Given the description of an element on the screen output the (x, y) to click on. 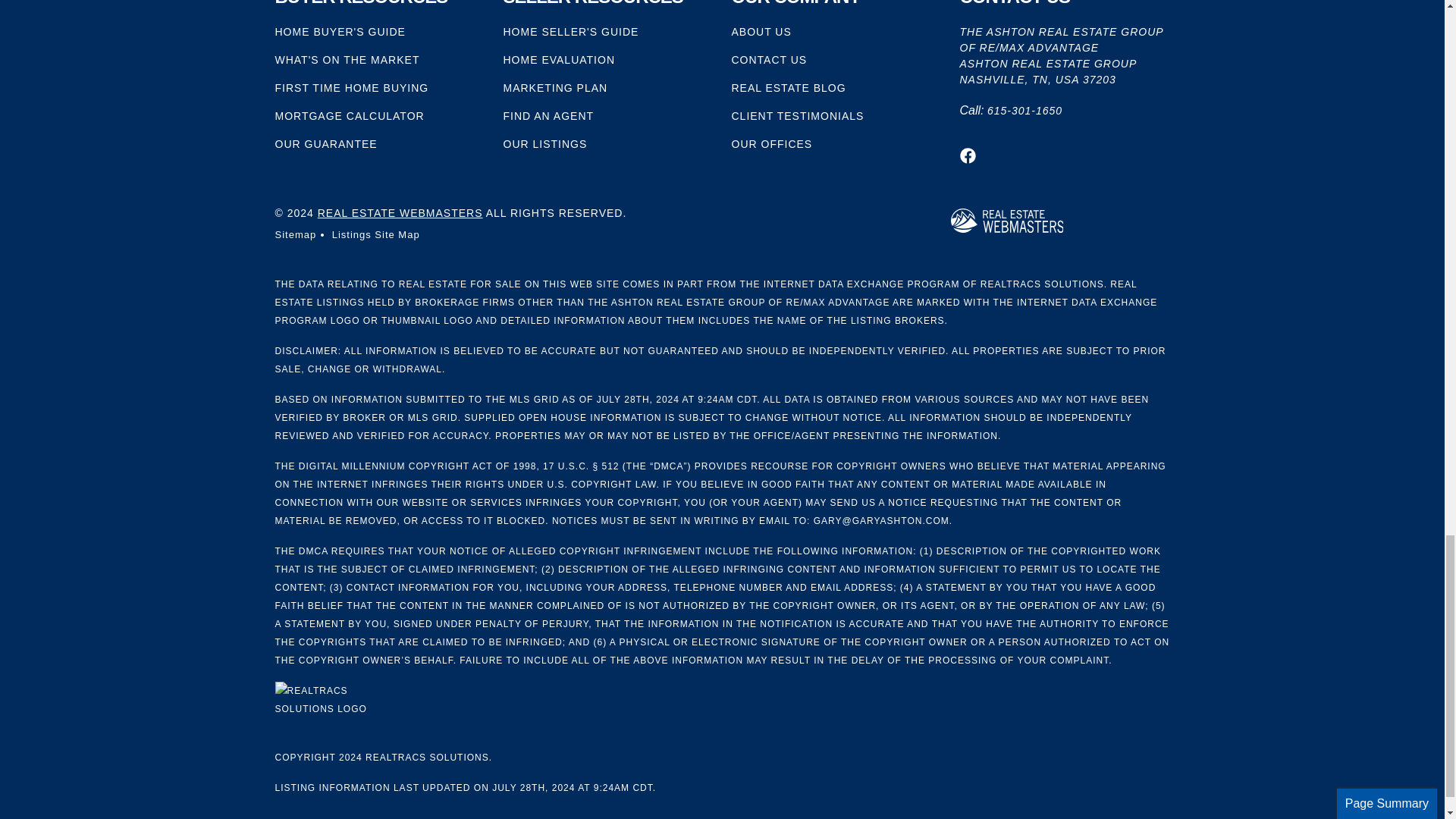
FACEBOOK (967, 155)
